Given the description of an element on the screen output the (x, y) to click on. 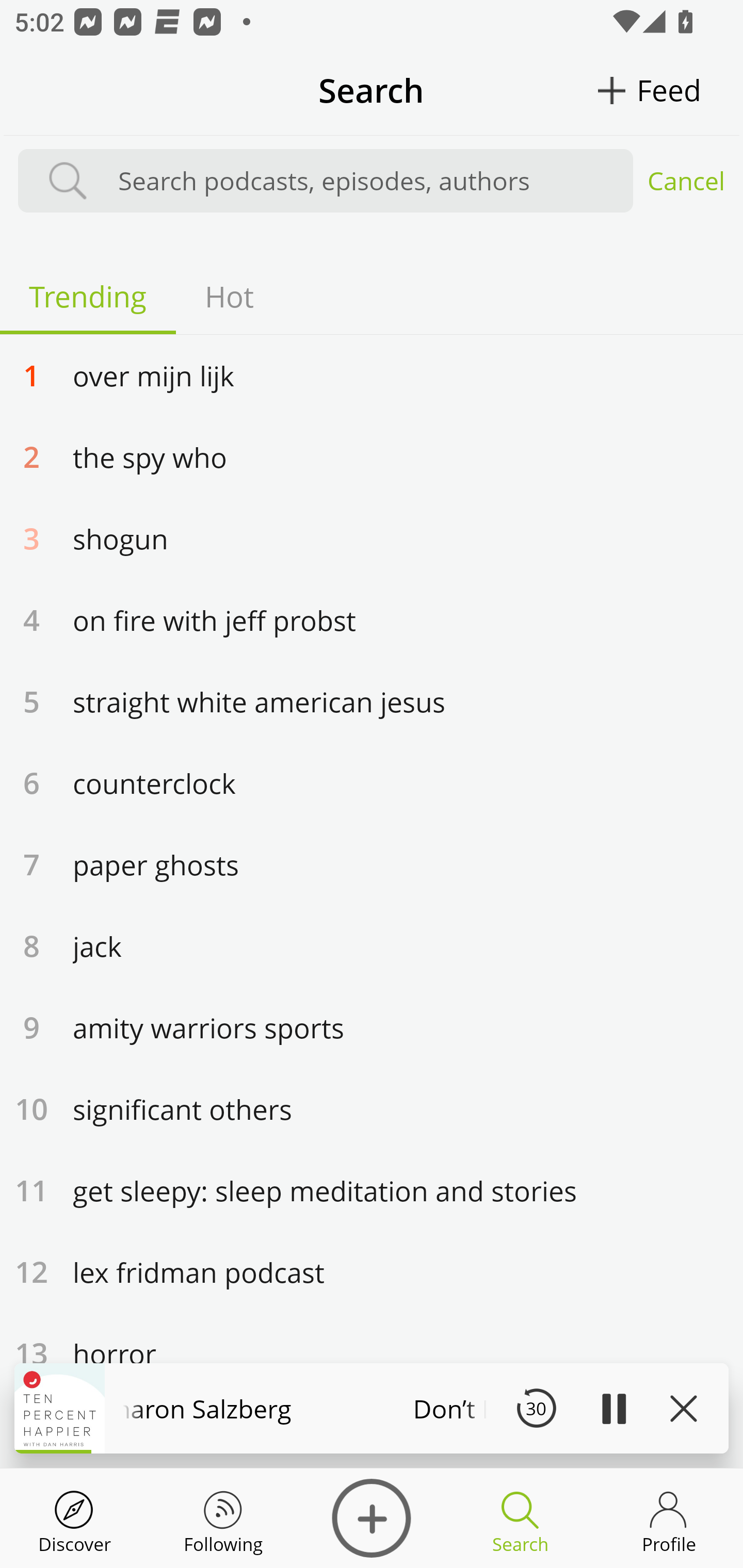
Feed (668, 90)
Cancel (686, 180)
Search podcasts, episodes, authors (366, 180)
Trending (88, 295)
Hot (229, 295)
1 over mijn lijk (371, 374)
2 the spy who (371, 456)
3 shogun (371, 537)
4 on fire with jeff probst (371, 619)
5 straight white american jesus (371, 700)
6 counterclock (371, 782)
7 paper ghosts (371, 863)
8 jack (371, 945)
9 amity warriors sports (371, 1026)
10 significant others (371, 1108)
11 get sleepy: sleep meditation and stories (371, 1189)
12 lex fridman podcast (371, 1271)
Play (613, 1407)
30 Seek Backward (536, 1407)
Discover (74, 1518)
Discover Following (222, 1518)
Discover (371, 1518)
Discover Profile (668, 1518)
